Given the description of an element on the screen output the (x, y) to click on. 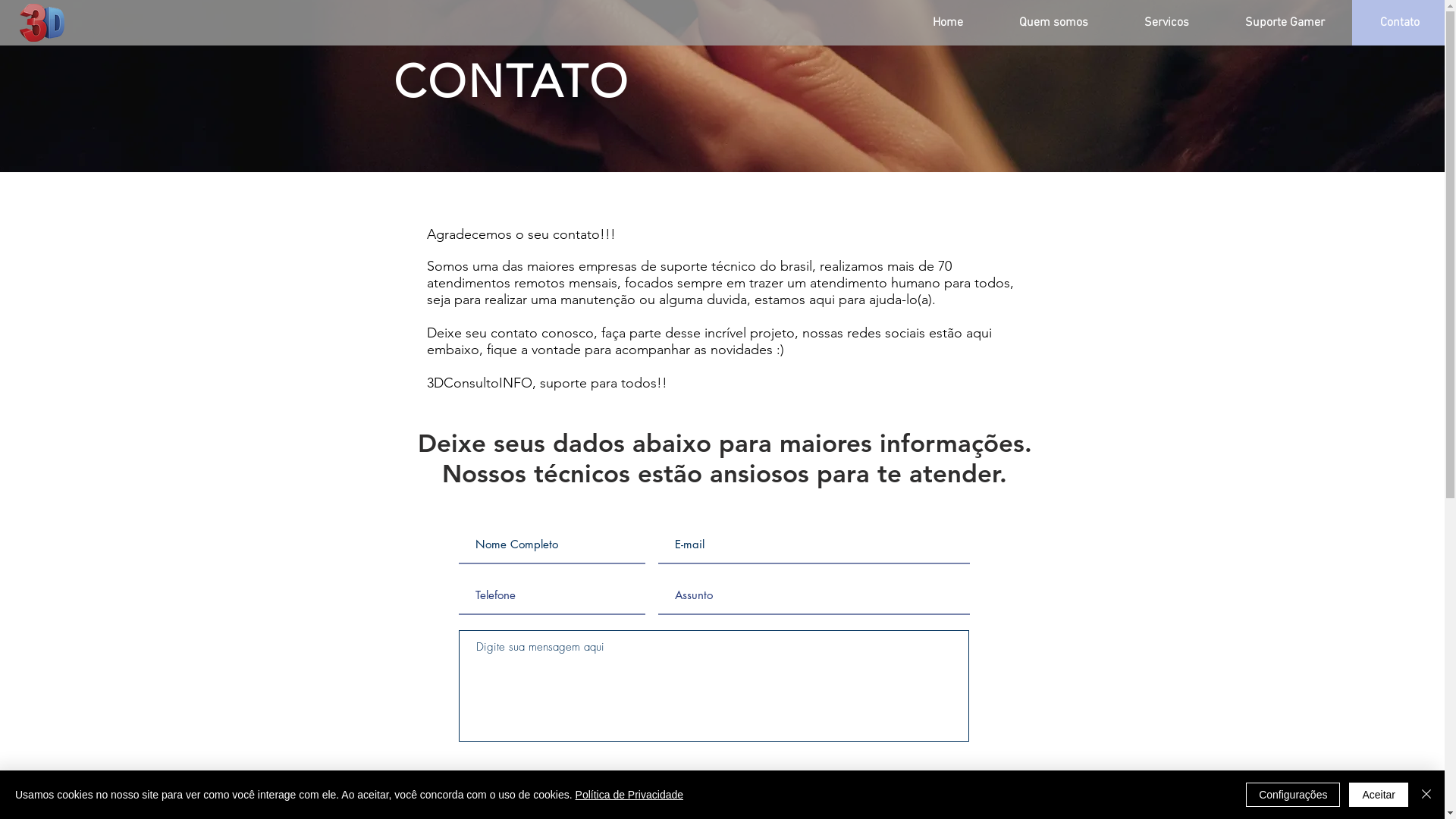
Suporte Gamer Element type: text (1284, 22)
Visitor Analytics Element type: hover (1442, 4)
Aceitar Element type: text (1378, 794)
Contato Element type: text (1399, 22)
Servicos Element type: text (1166, 22)
Home Element type: text (947, 22)
Quem somos Element type: text (1053, 22)
